Given the description of an element on the screen output the (x, y) to click on. 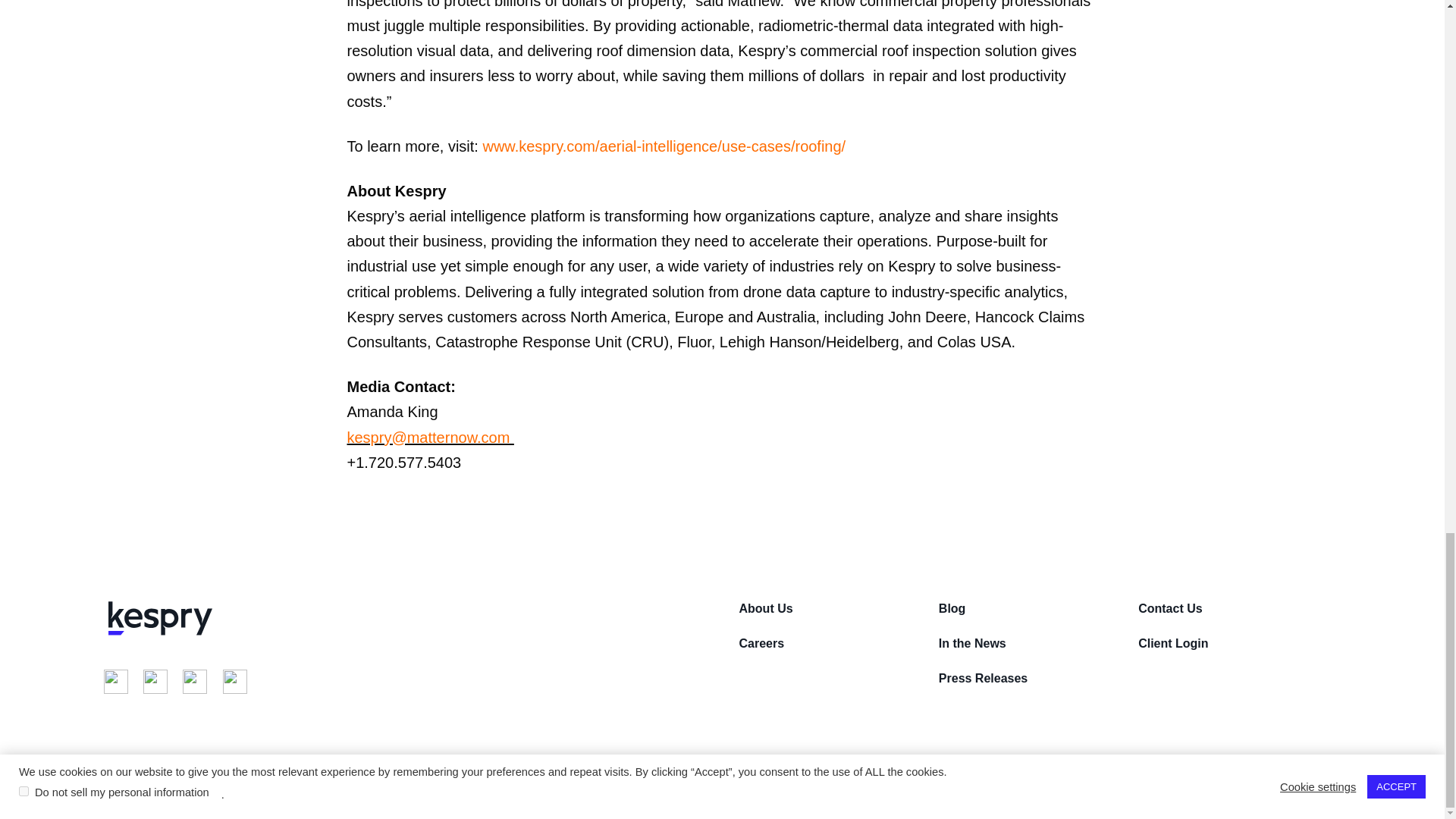
Blog (1033, 608)
Press Releases (1029, 678)
About Us (832, 608)
Privacy Policy (312, 759)
In the News (1029, 643)
Careers (828, 643)
Contact Us (1232, 608)
Client Login (1228, 643)
